Given the description of an element on the screen output the (x, y) to click on. 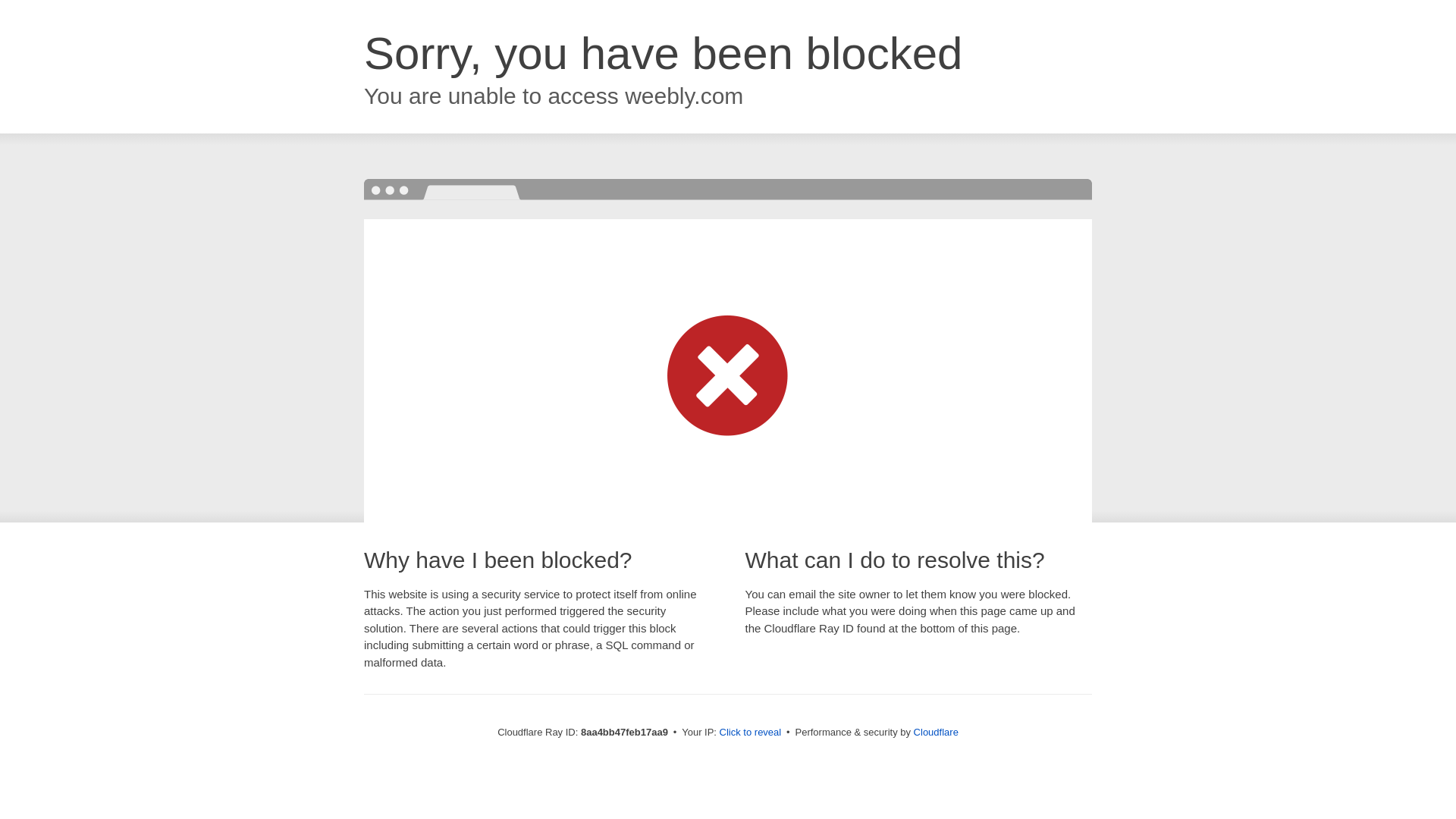
Click to reveal (750, 732)
Cloudflare (936, 731)
